Given the description of an element on the screen output the (x, y) to click on. 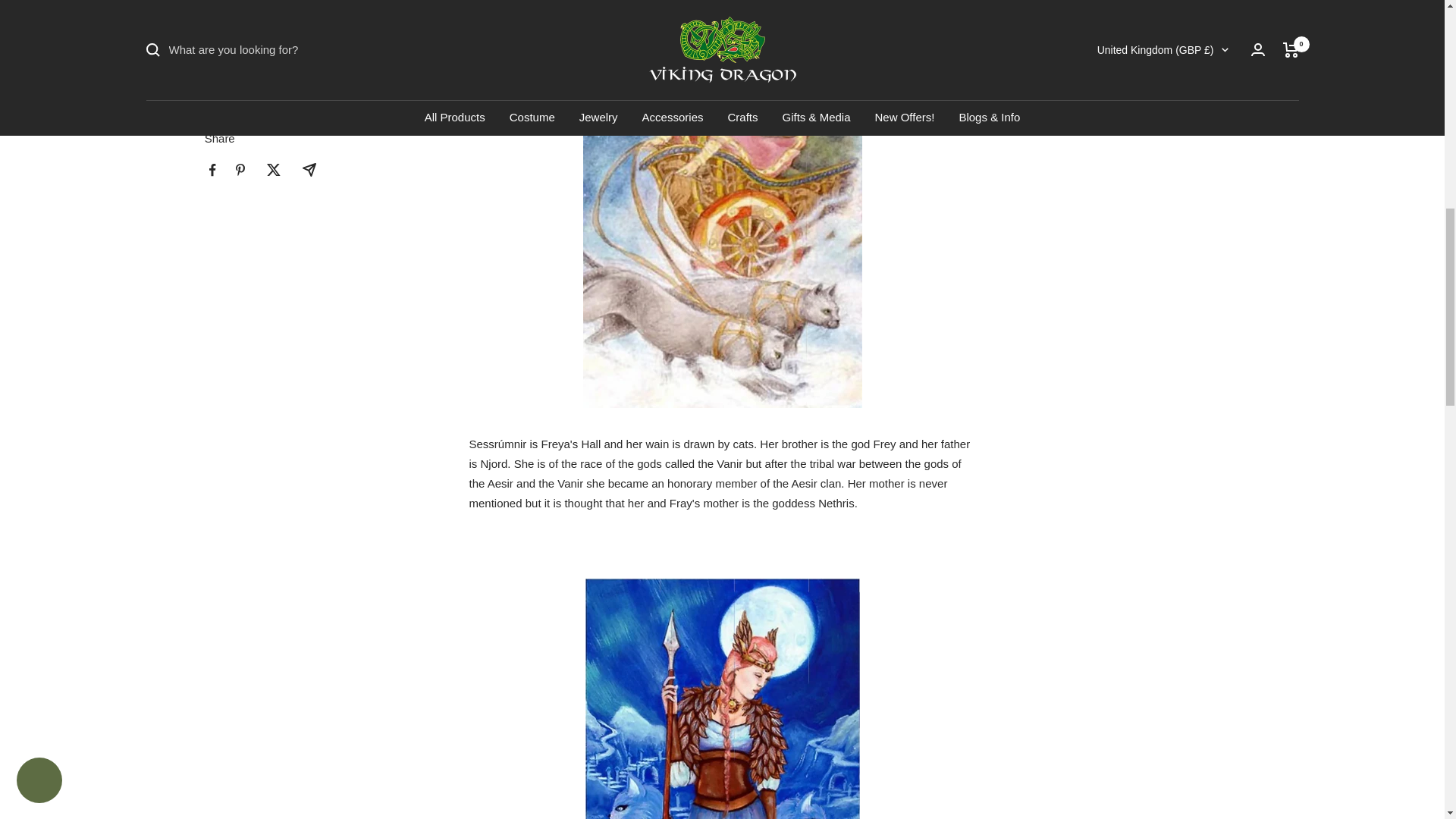
BR (1077, 46)
BV (1077, 21)
BN (1077, 121)
BG (1077, 146)
VG (1077, 96)
IO (1077, 71)
BW (1077, 3)
